Given the description of an element on the screen output the (x, y) to click on. 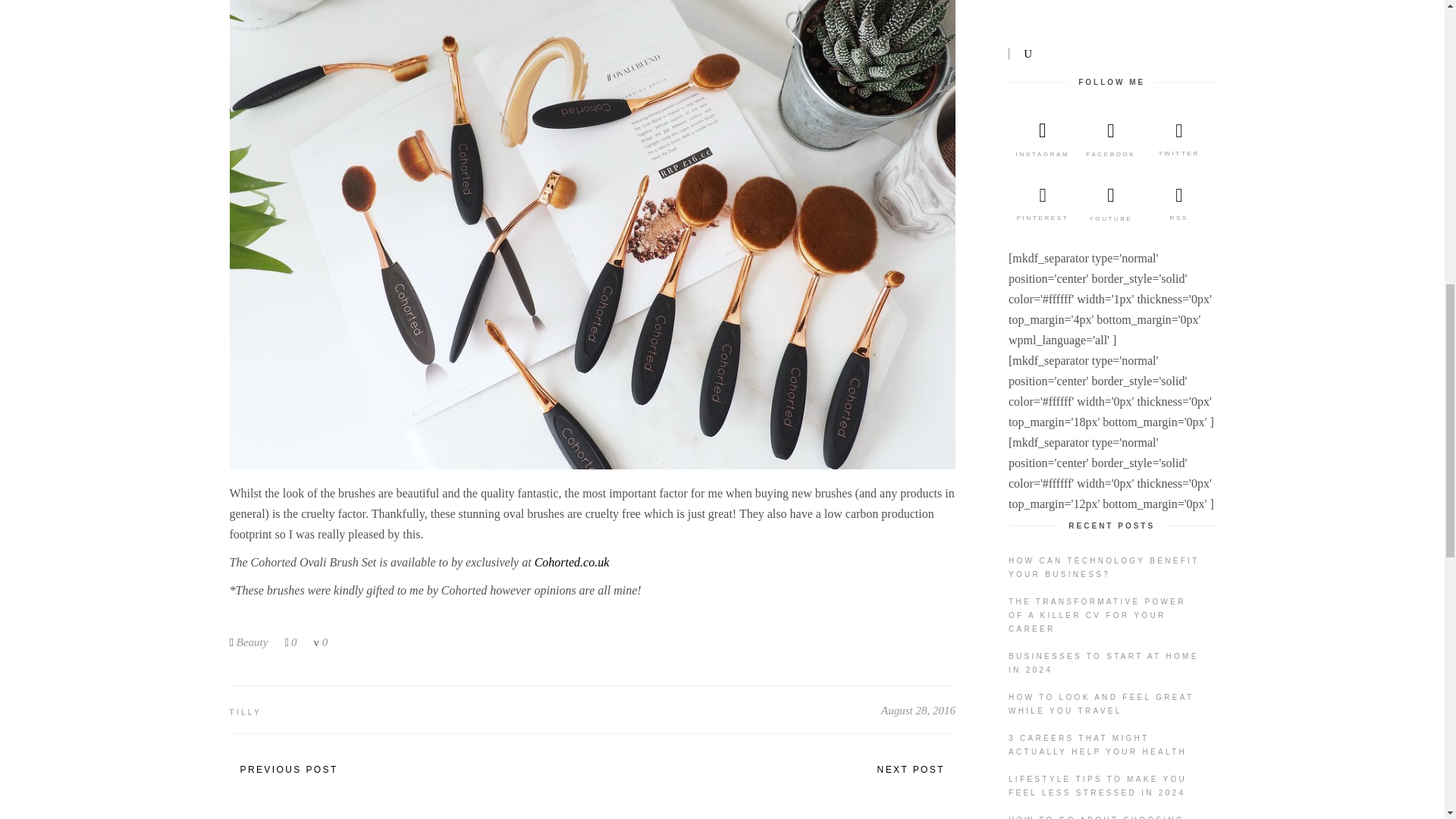
Cohorted.co.uk  (573, 562)
0 (319, 642)
0 (290, 642)
Like this (290, 642)
Beauty (251, 642)
